Given the description of an element on the screen output the (x, y) to click on. 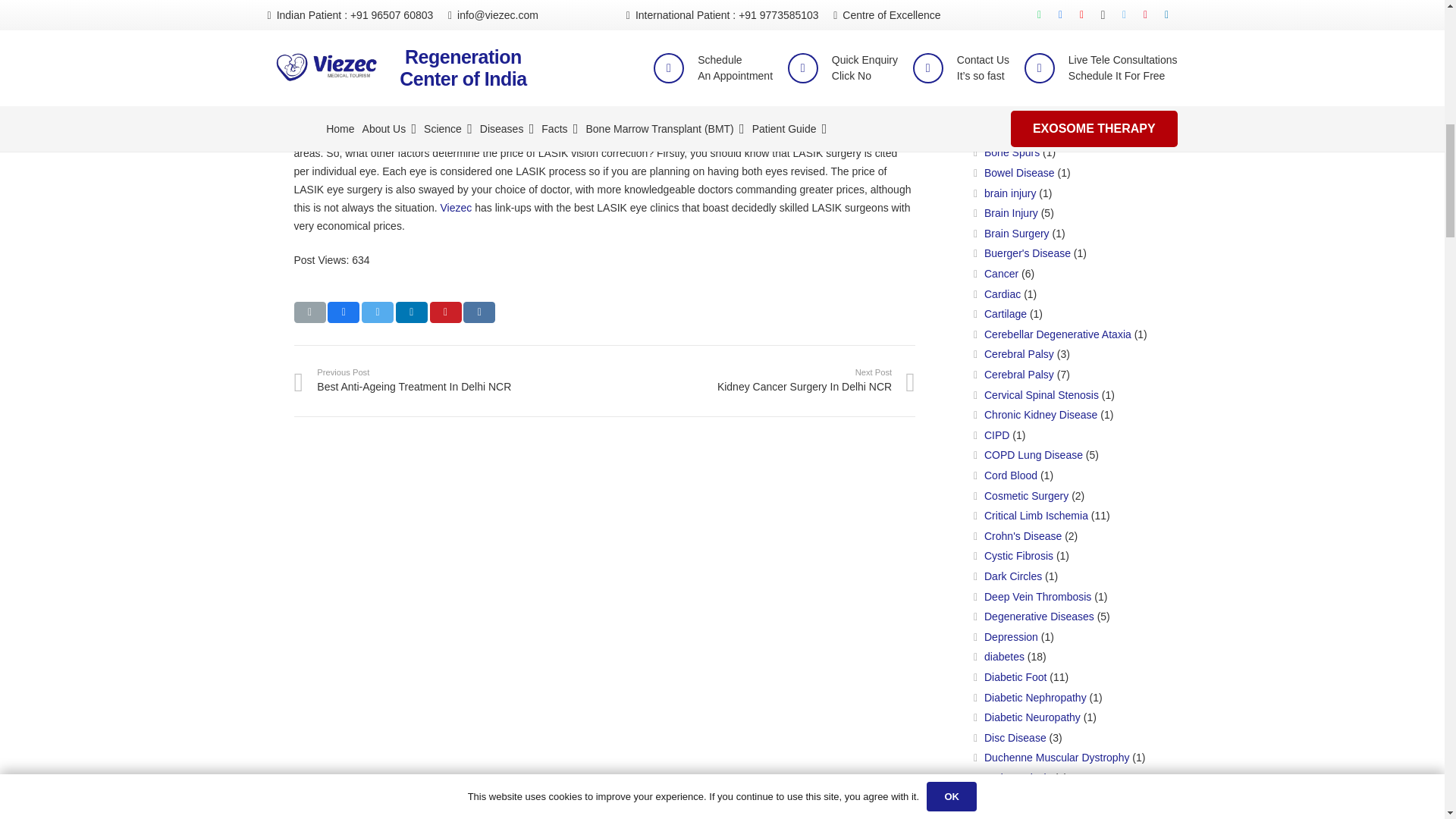
Best Anti-Ageing Treatment In Delhi NCR (449, 380)
Share this (479, 312)
Kidney Cancer Surgery In Delhi NCR (759, 380)
Email this (310, 312)
Pin this (445, 312)
Share this (412, 312)
Tweet this (377, 312)
Share this (343, 312)
